Given the description of an element on the screen output the (x, y) to click on. 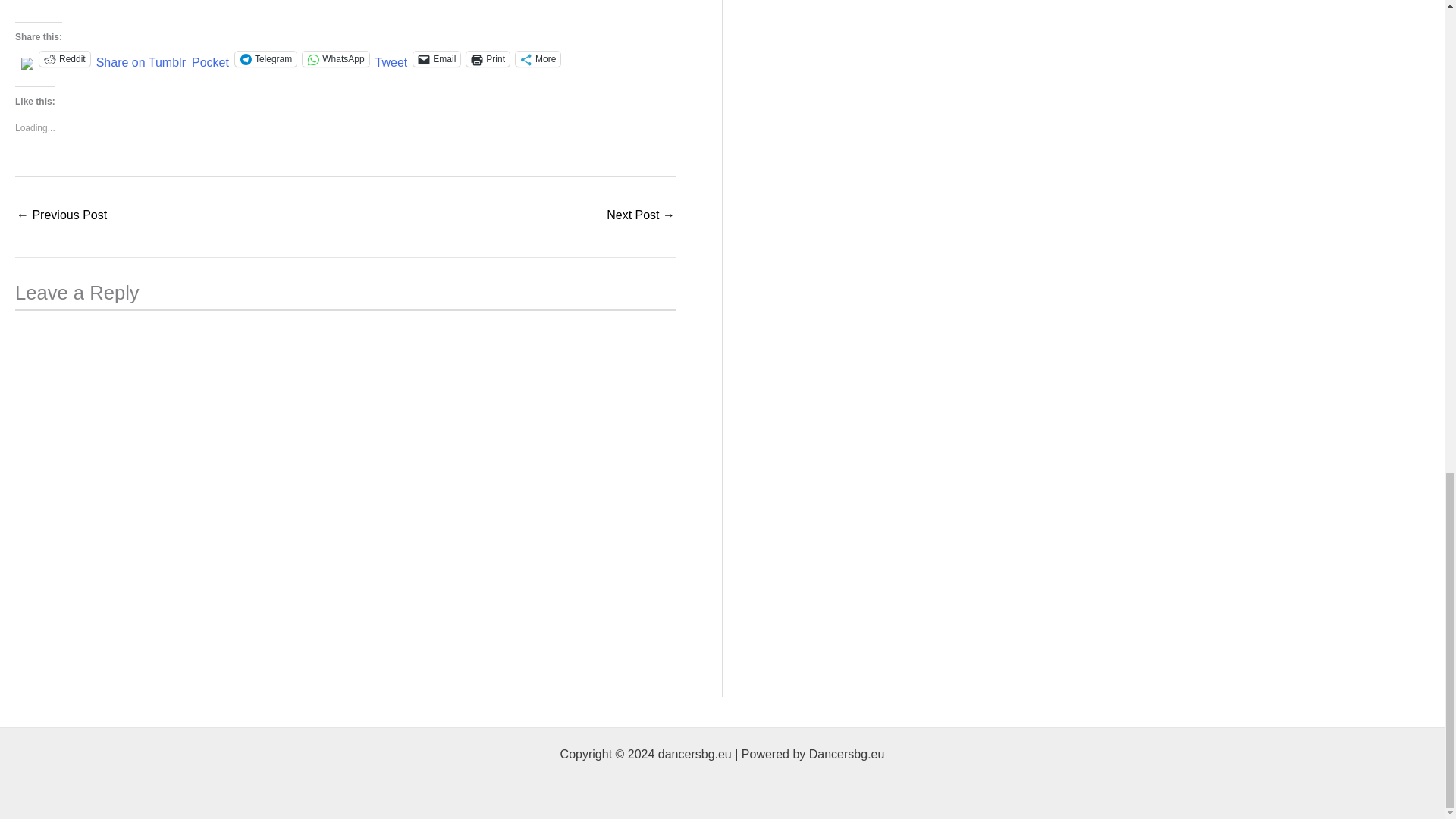
Share on Tumblr (141, 58)
Click to print (487, 58)
Click to share on Telegram (265, 58)
Sochi to host WDSF European Breaking Championships in June (61, 216)
Click to email a link to a friend (436, 58)
Click to share on WhatsApp (335, 58)
Click to share on Reddit (64, 58)
